Given the description of an element on the screen output the (x, y) to click on. 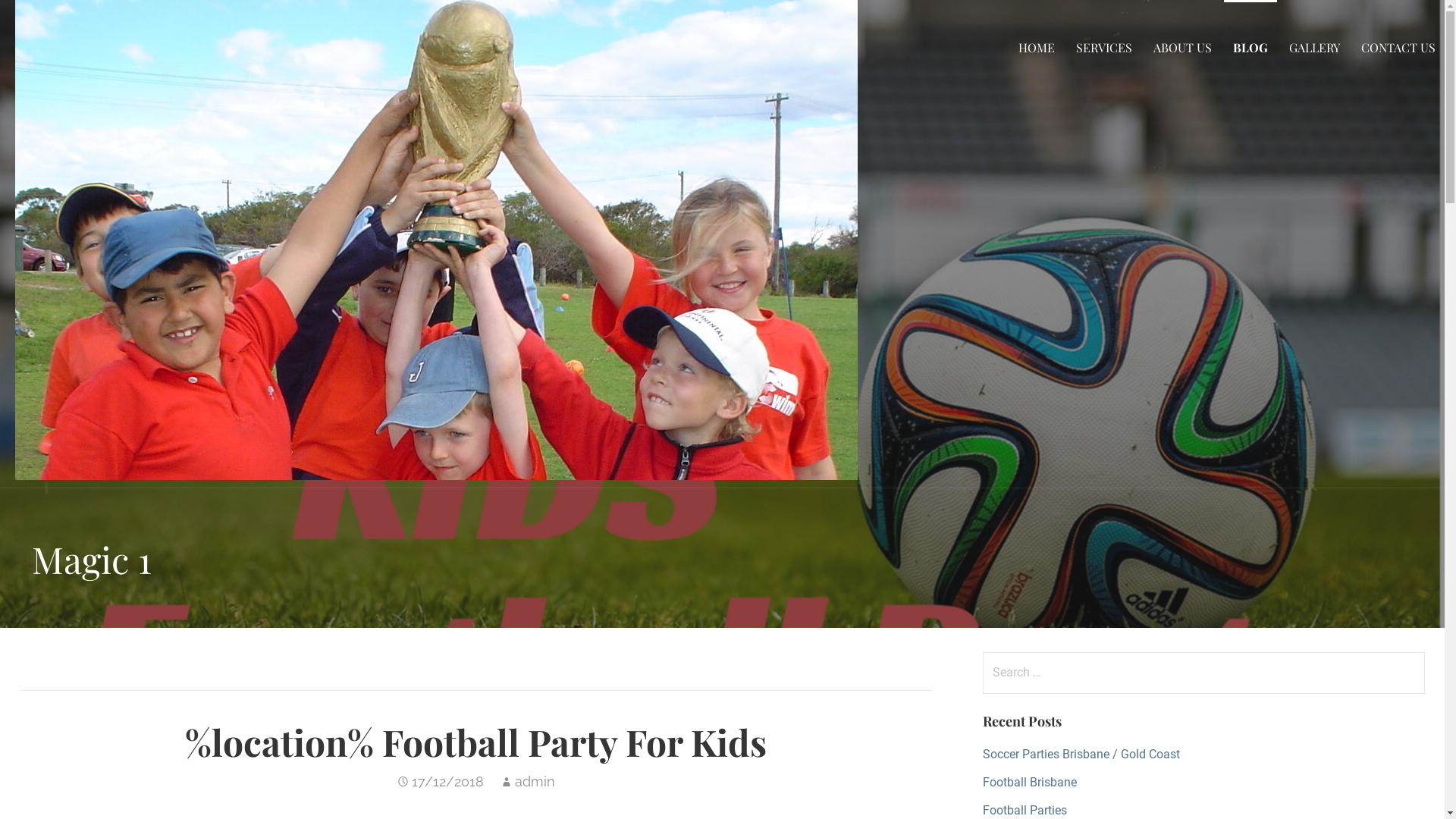
GALLERY Element type: text (1314, 47)
Skip to content Element type: text (0, 0)
Football Brisbane Element type: text (1029, 782)
admin Element type: text (534, 781)
CONTACT US Element type: text (1398, 47)
HOME Element type: text (1036, 47)
BLOG Element type: text (1250, 47)
ABOUT US Element type: text (1182, 47)
Football Parties Element type: text (1024, 810)
Search Element type: text (41, 18)
SERVICES Element type: text (1103, 47)
Soccer Parties Brisbane / Gold Coast Element type: text (1080, 753)
